Given the description of an element on the screen output the (x, y) to click on. 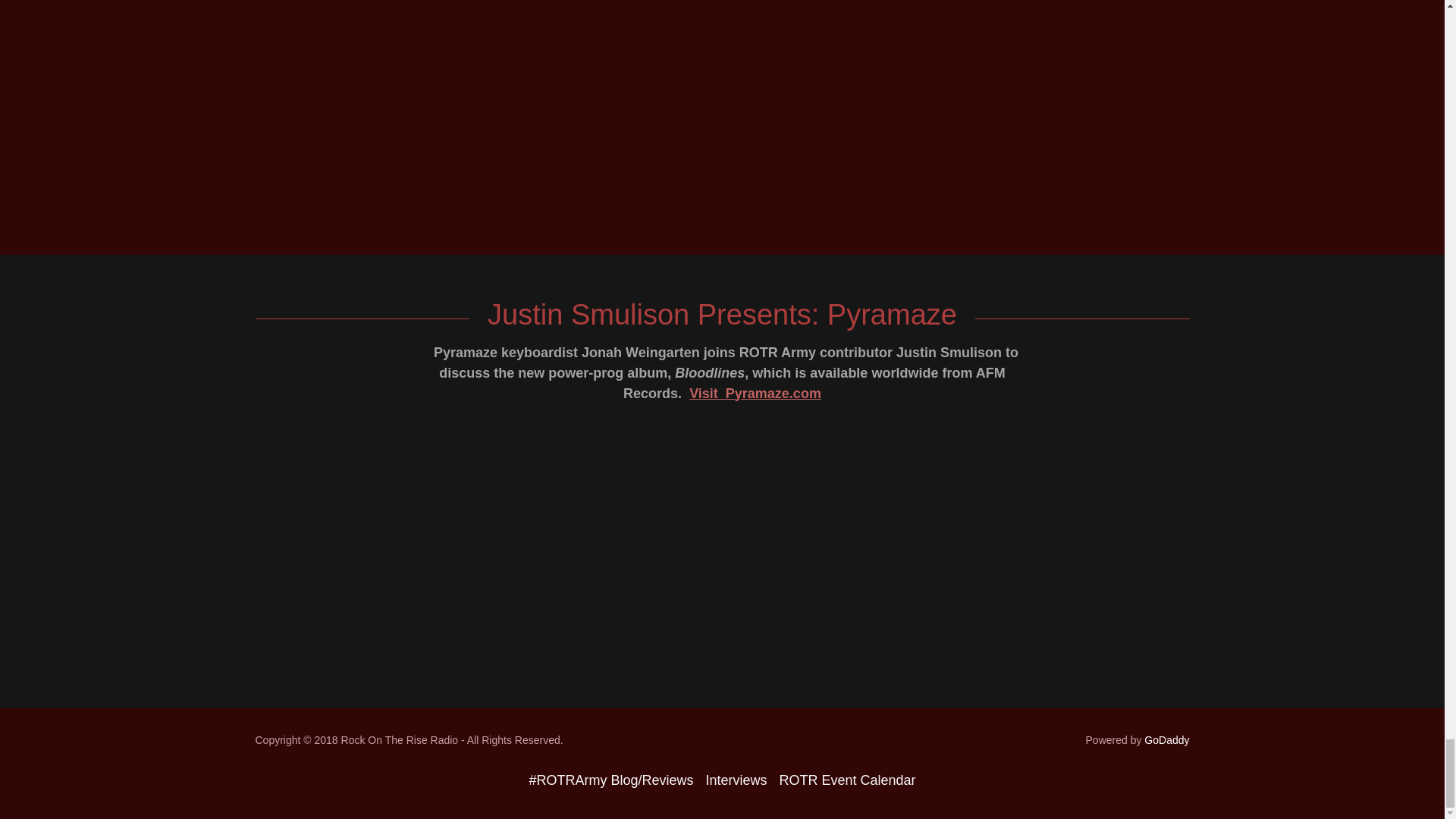
Visit  Pyramaze.com (754, 392)
Clickable audio widget (721, 104)
Clickable audio widget (721, 547)
